Given the description of an element on the screen output the (x, y) to click on. 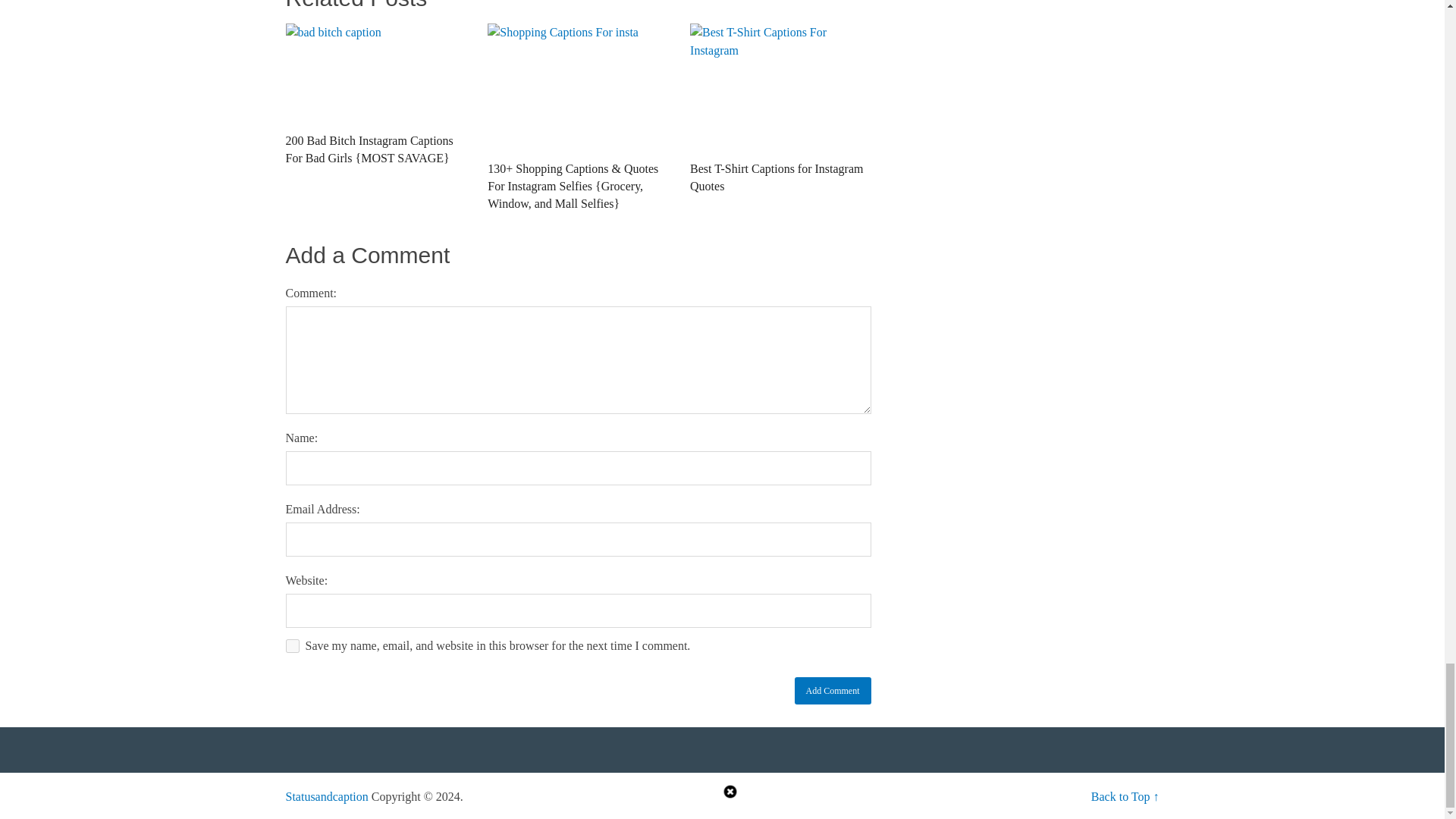
Add Comment (832, 690)
Best T-Shirt Captions for Instagram Quotes (780, 117)
Pick up lines, best quotes, captions and status (326, 796)
yes (291, 645)
Best T-Shirt Captions for Instagram Quotes (780, 117)
Add Comment (832, 690)
